Given the description of an element on the screen output the (x, y) to click on. 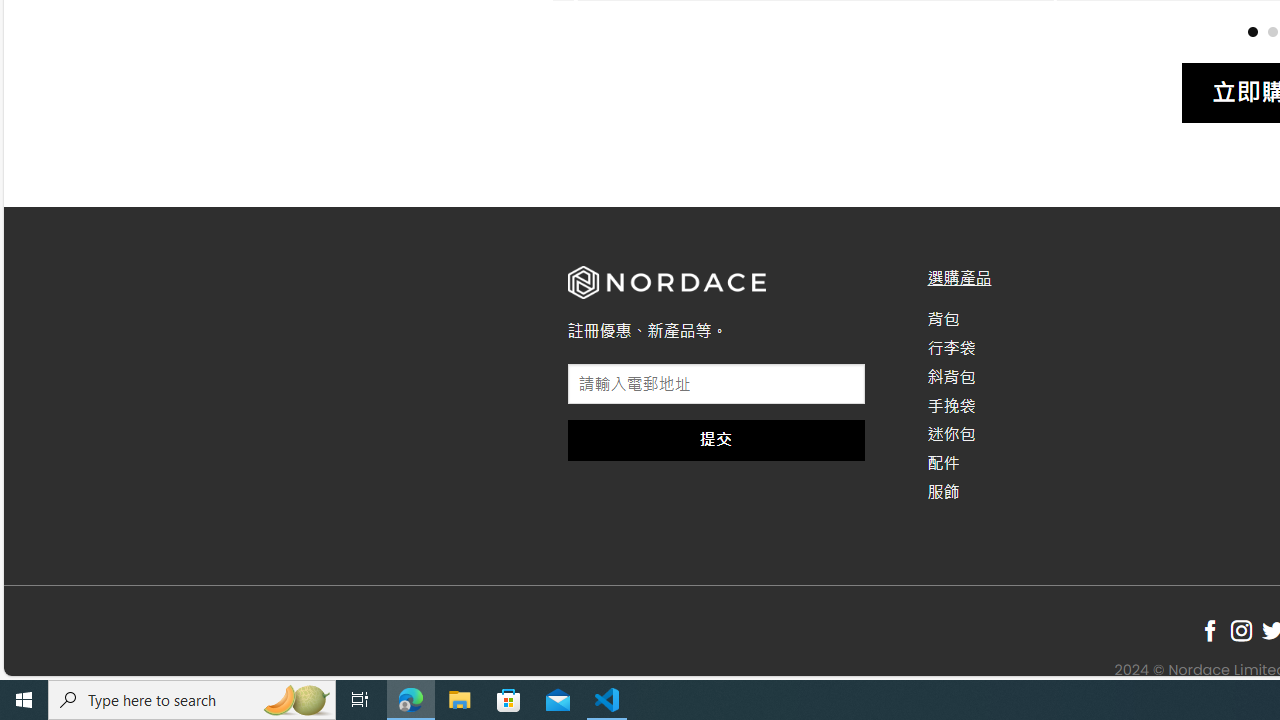
Page dot 2 (1272, 30)
Follow on Facebook (1210, 631)
Follow on Instagram (1241, 631)
Page dot 1 (1252, 30)
AutomationID: input_4_1 (716, 384)
